Given the description of an element on the screen output the (x, y) to click on. 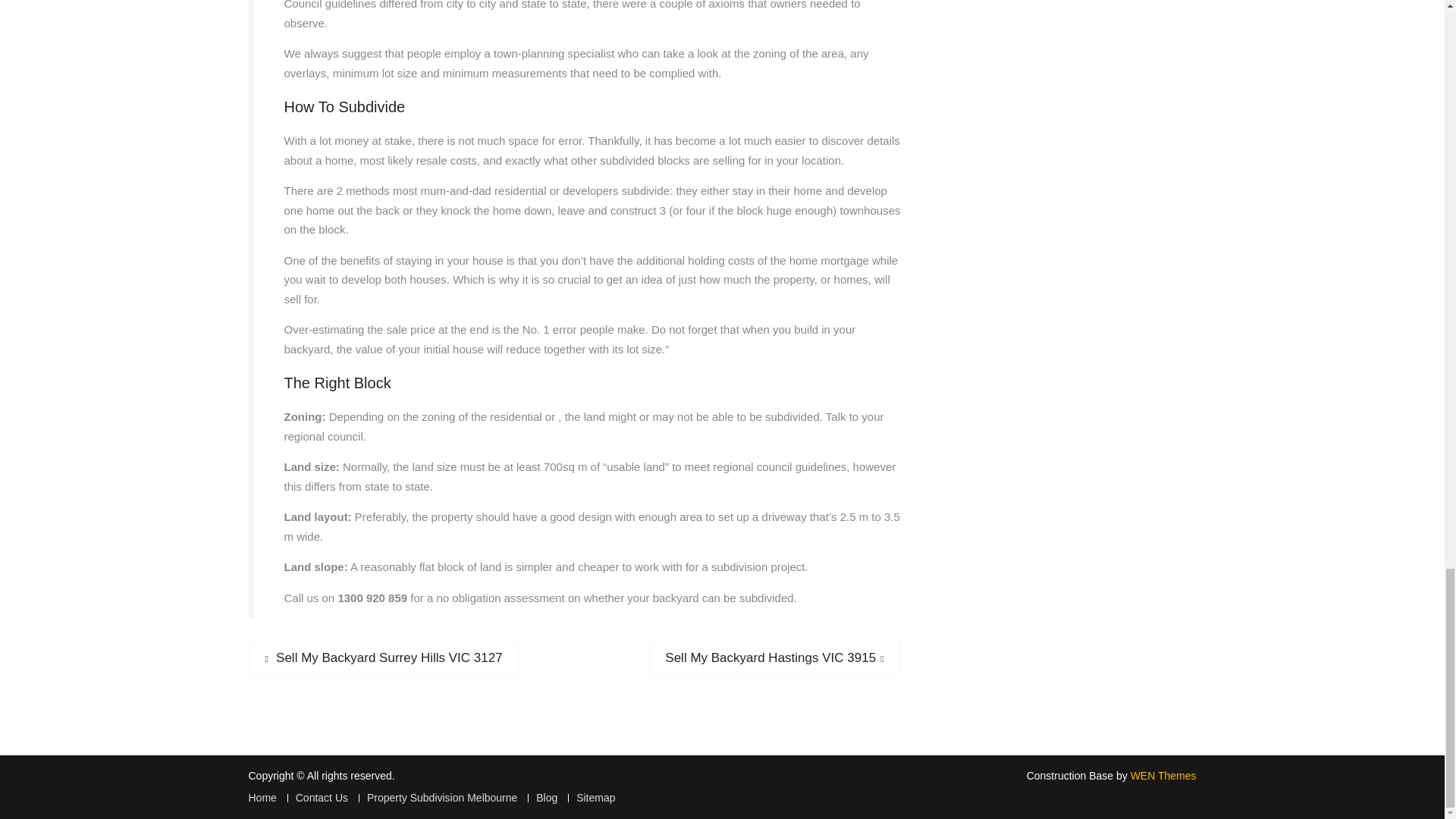
Home (262, 797)
Contact Us (773, 658)
Blog (316, 797)
Property Subdivision Melbourne (383, 658)
